Given the description of an element on the screen output the (x, y) to click on. 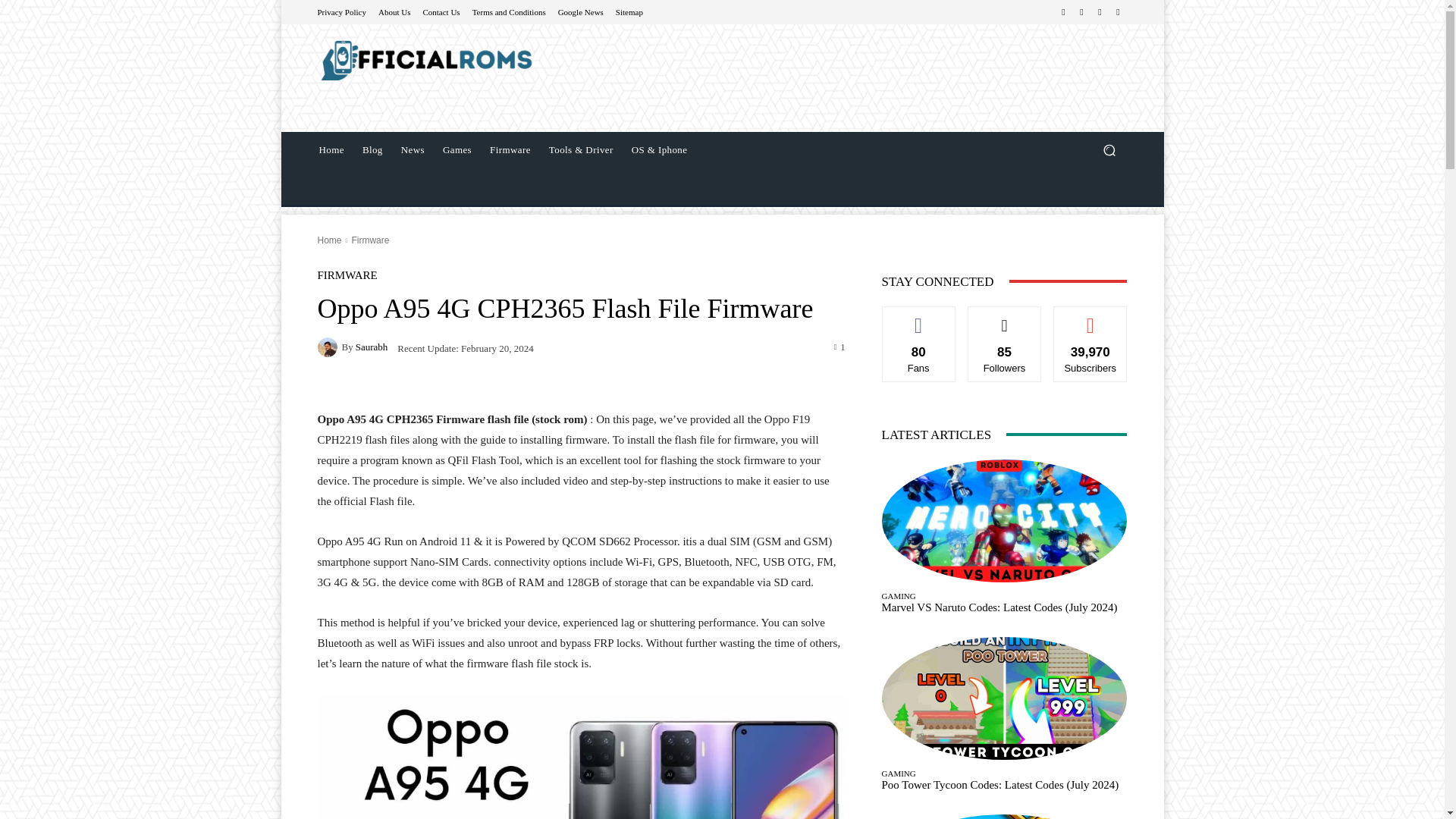
Youtube (1117, 12)
Home (330, 149)
1 (839, 346)
About Us (394, 11)
FIRMWARE (347, 275)
Google News (580, 11)
Blog (372, 149)
View all posts in Firmware (369, 240)
Home (328, 240)
Privacy Policy (341, 11)
Twitter (1099, 12)
Facebook (1062, 12)
Firmware (369, 240)
Sitemap (629, 11)
Instagram (1080, 12)
